Given the description of an element on the screen output the (x, y) to click on. 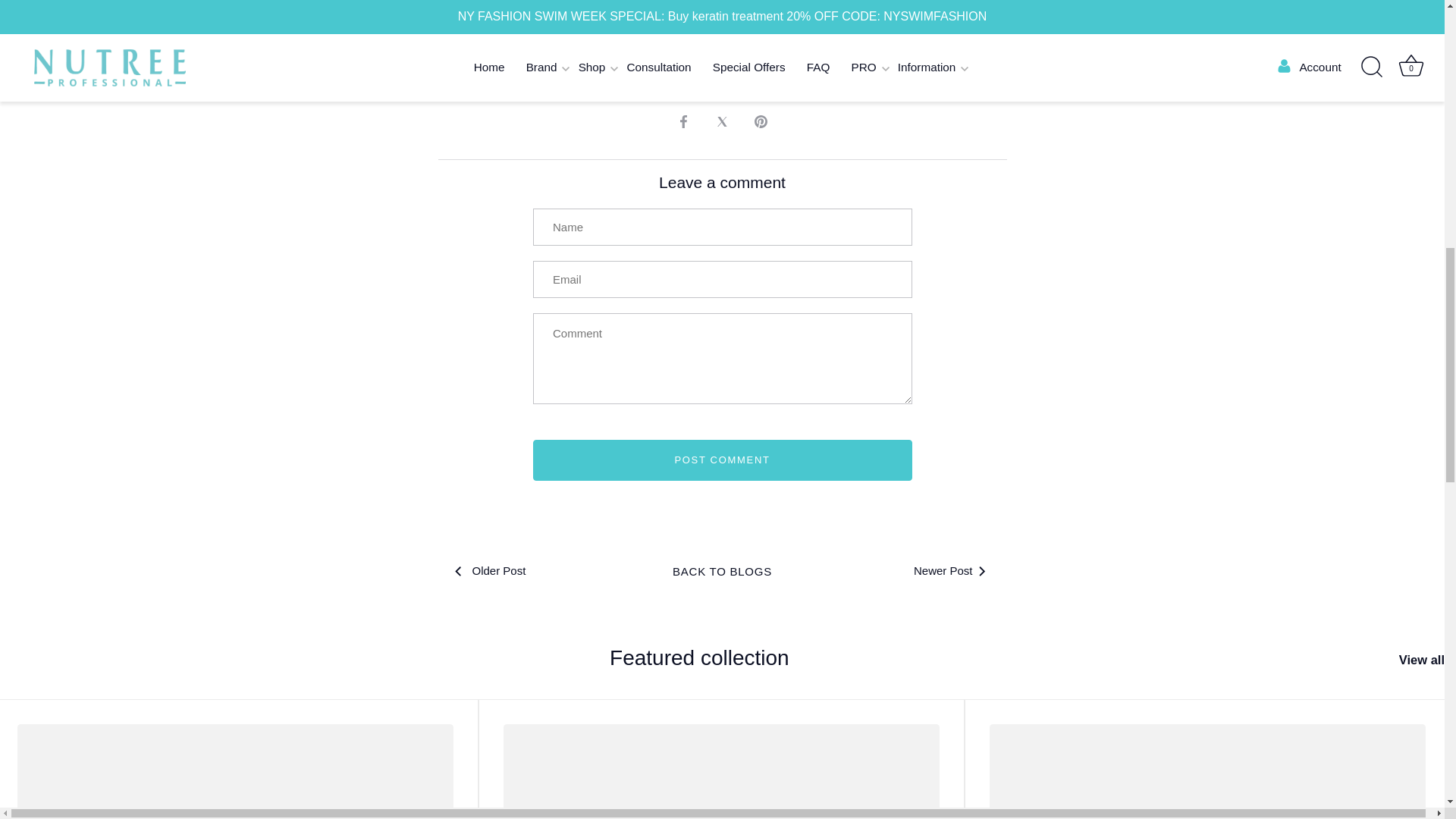
Post comment (721, 459)
